Given the description of an element on the screen output the (x, y) to click on. 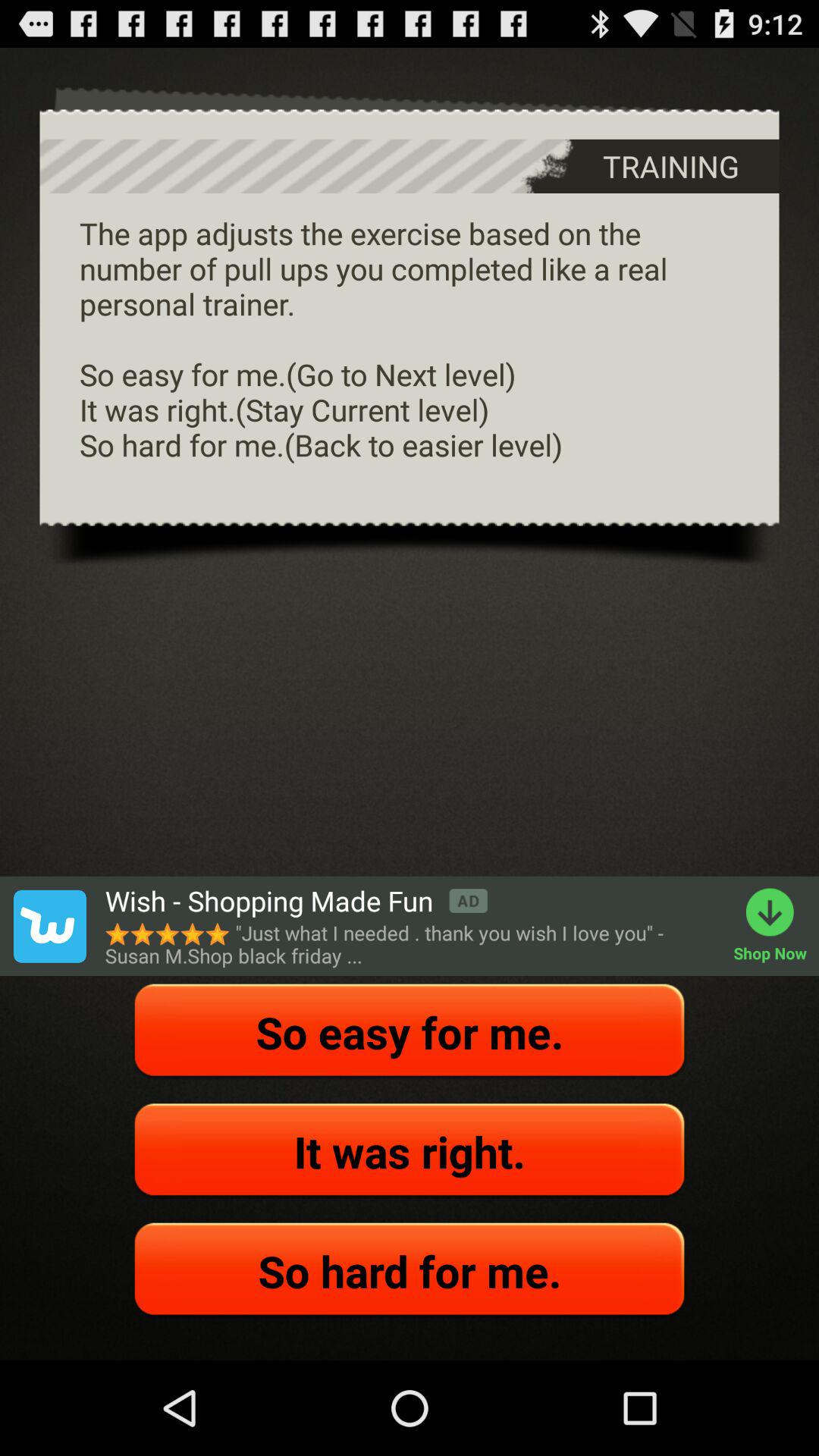
turn off the wish shopping made (296, 900)
